Given the description of an element on the screen output the (x, y) to click on. 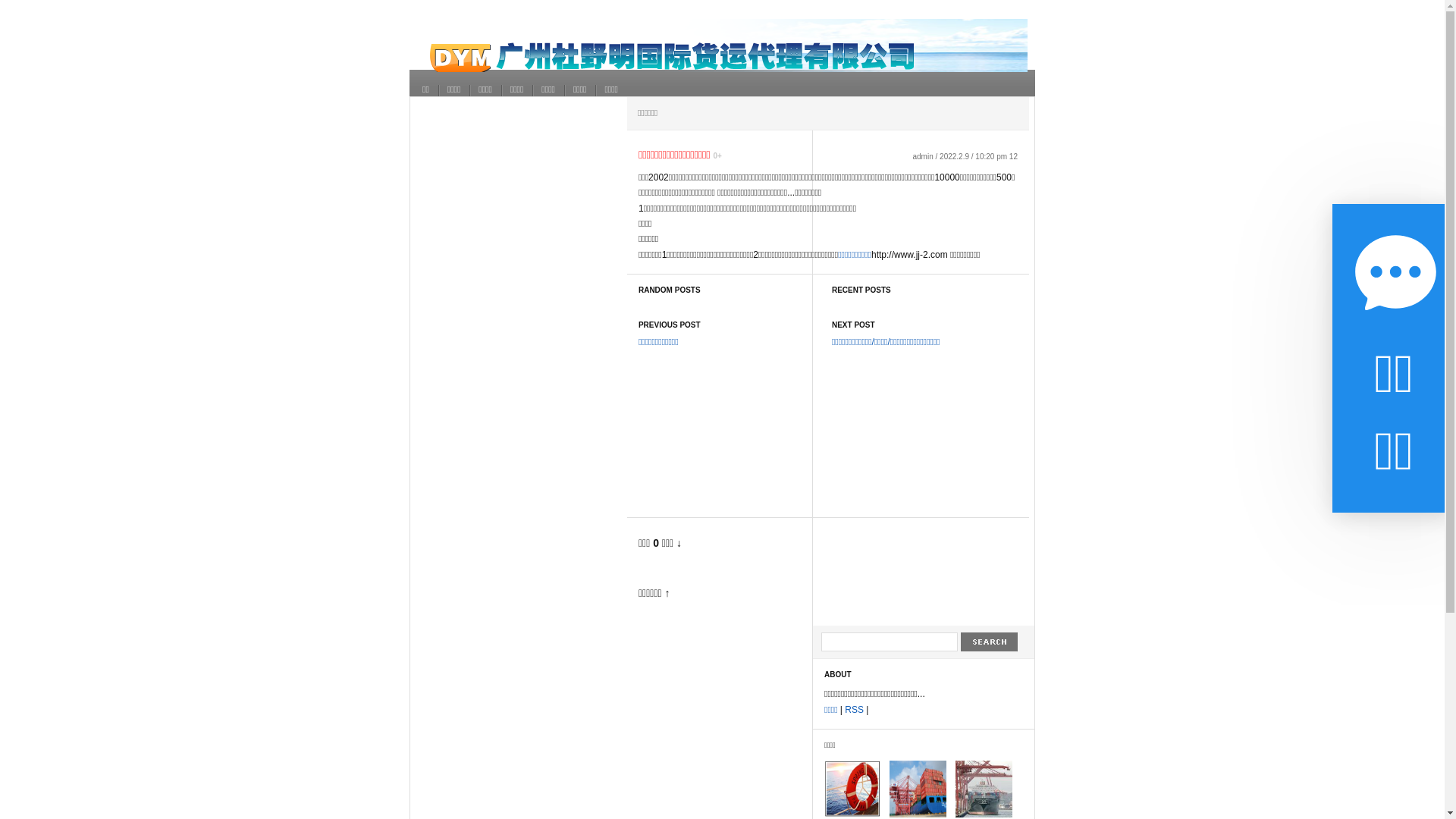
RSS Element type: text (853, 709)
0+ Element type: text (717, 155)
Search Element type: text (990, 641)
PREVIOUS POST Element type: text (669, 324)
NEXT POST Element type: text (853, 324)
admin Element type: text (922, 156)
